Given the description of an element on the screen output the (x, y) to click on. 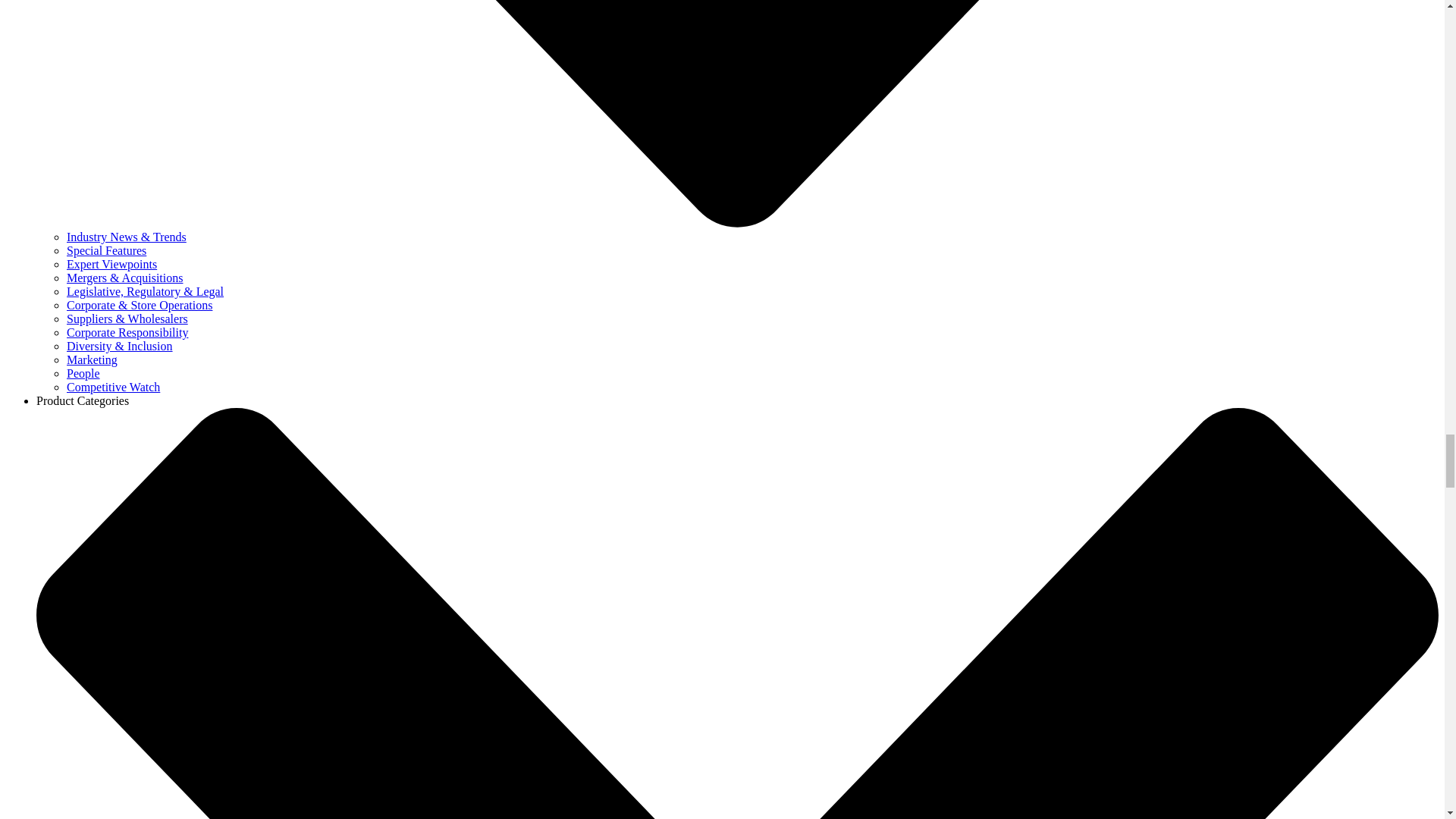
Product Categories (82, 400)
Marketing (91, 359)
Expert Viewpoints (111, 264)
People (83, 373)
Corporate Responsibility (126, 332)
Special Features (106, 250)
Competitive Watch (113, 386)
